Given the description of an element on the screen output the (x, y) to click on. 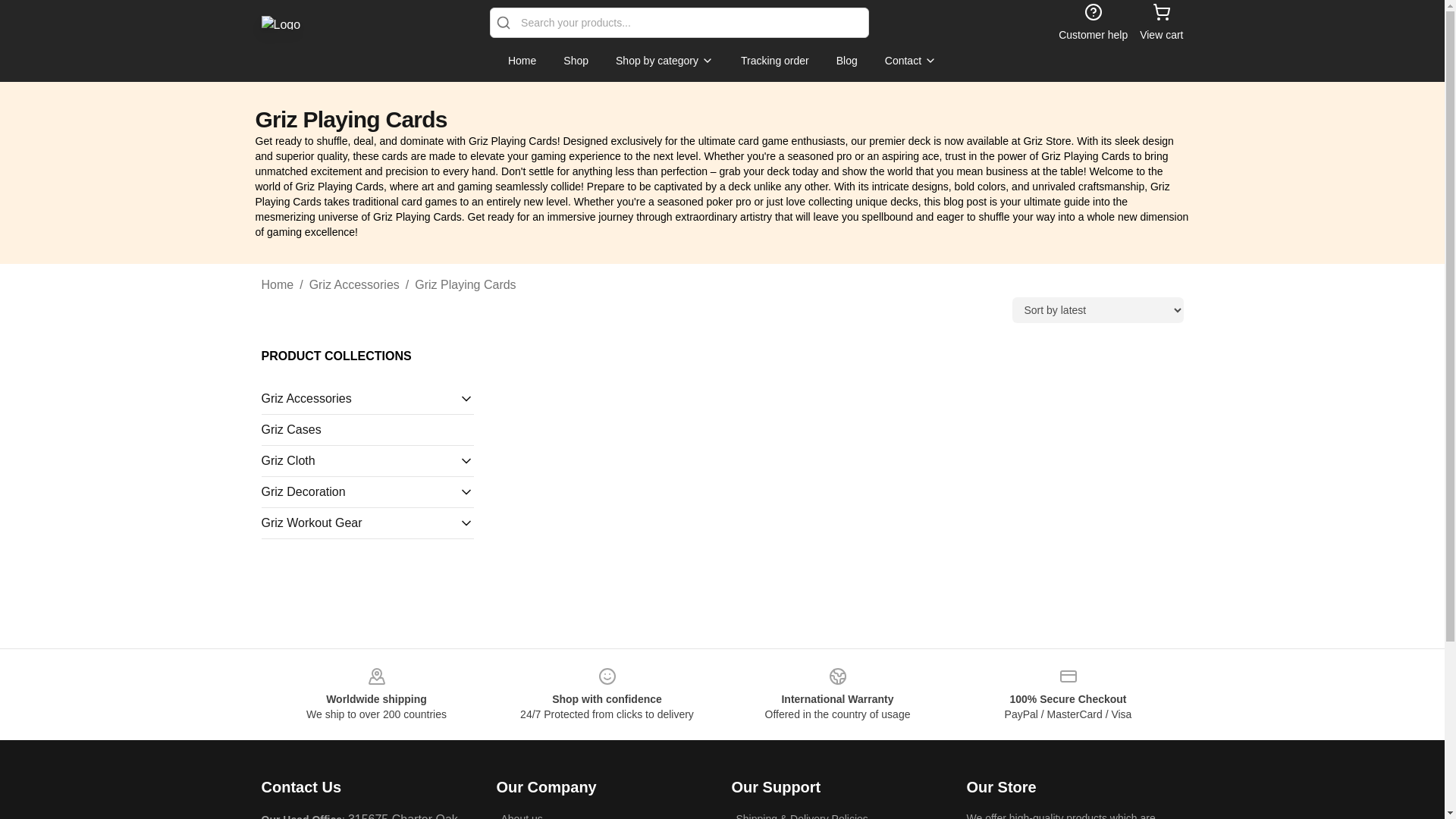
Home (277, 285)
Tracking order (775, 60)
Contact (910, 60)
Customer help (1092, 22)
Griz Playing Cards (464, 285)
View cart (1161, 22)
Griz Accessories (353, 285)
Shop (575, 60)
Blog (846, 60)
Home (522, 60)
Shop by category (664, 60)
Griz Cases (366, 429)
Griz Accessories (359, 398)
view cart (1161, 22)
customer help (1092, 22)
